Given the description of an element on the screen output the (x, y) to click on. 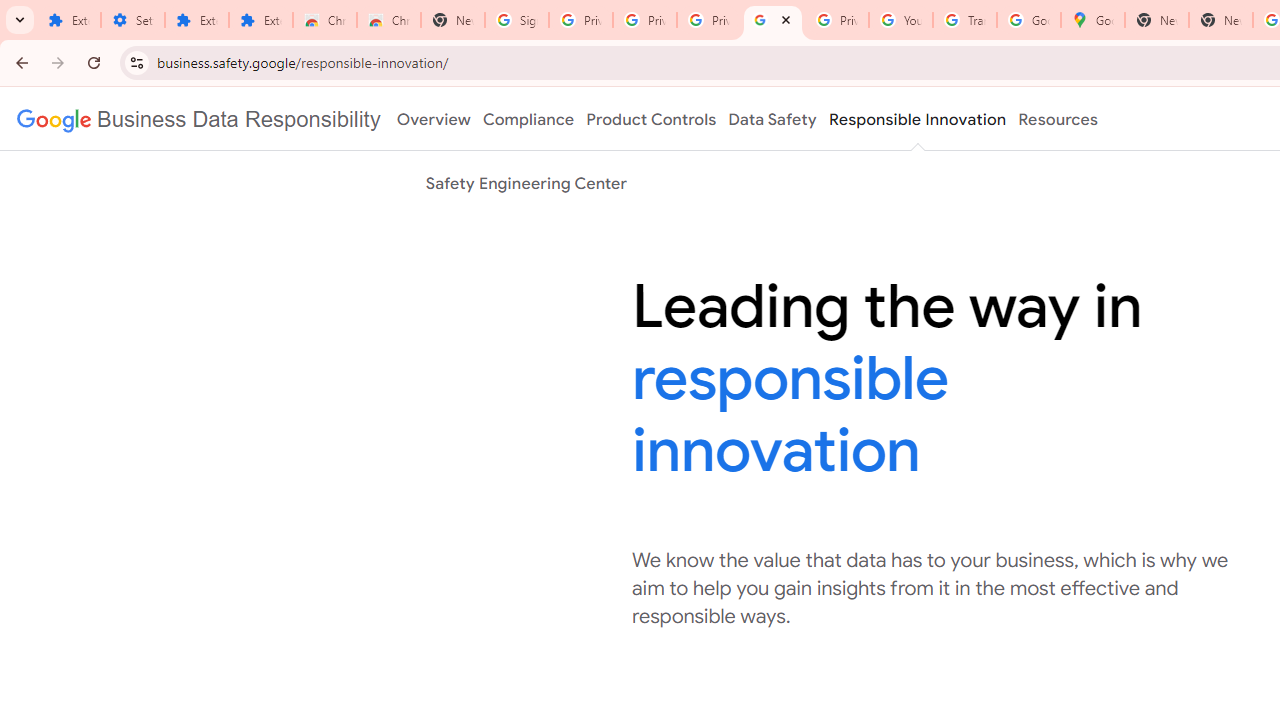
Responsible Innovation (916, 119)
Google logo (198, 119)
